Given the description of an element on the screen output the (x, y) to click on. 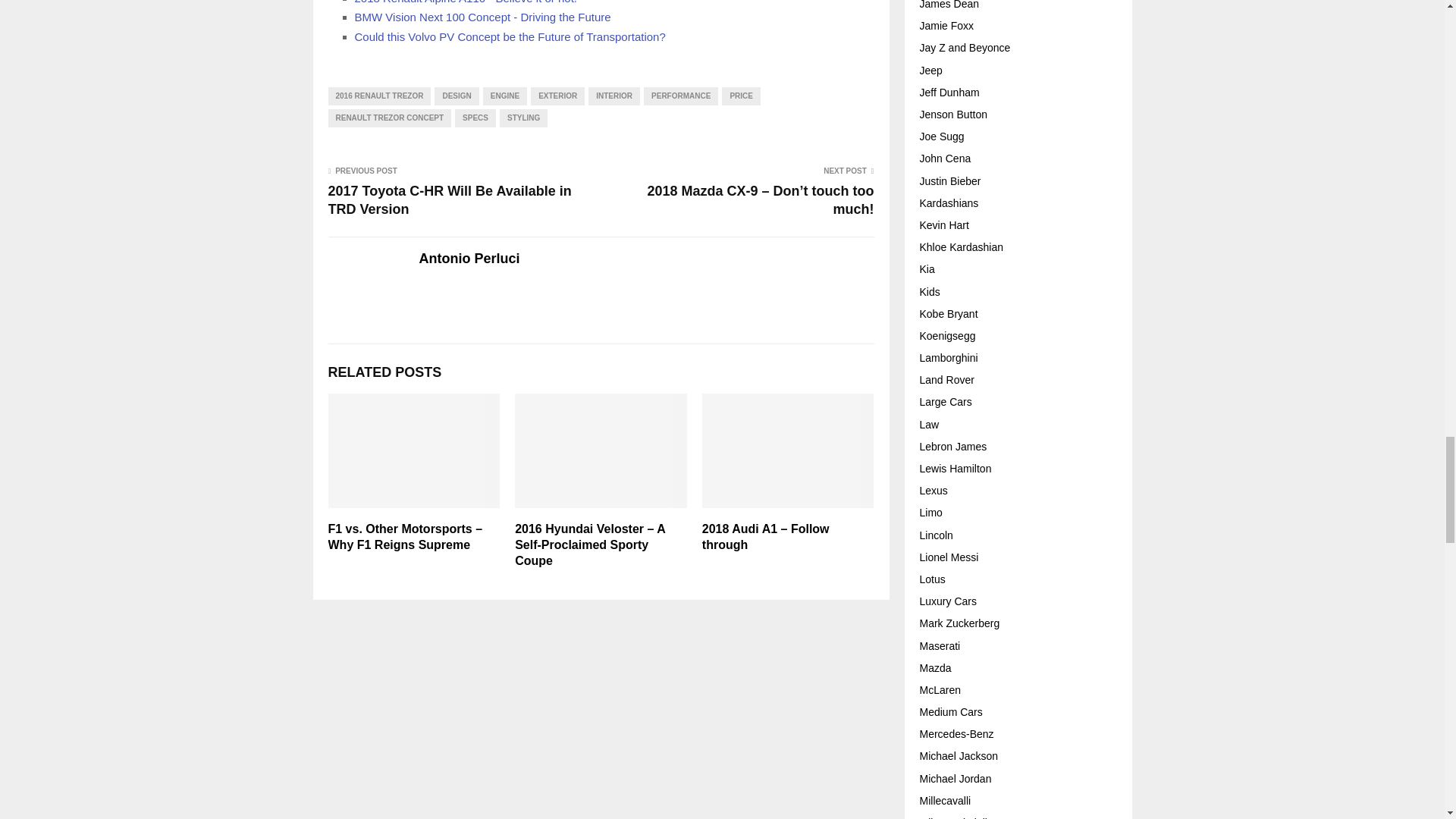
BMW Vision Next 100 Concept - Driving the Future (483, 16)
STYLING (523, 117)
ENGINE (505, 95)
SPECS (475, 117)
Posts by Antonio Perluci (469, 258)
Could this Volvo PV Concept be the Future of Transportation? (510, 36)
PRICE (741, 95)
DESIGN (456, 95)
2016 RENAULT TREZOR (378, 95)
PERFORMANCE (680, 95)
